Given the description of an element on the screen output the (x, y) to click on. 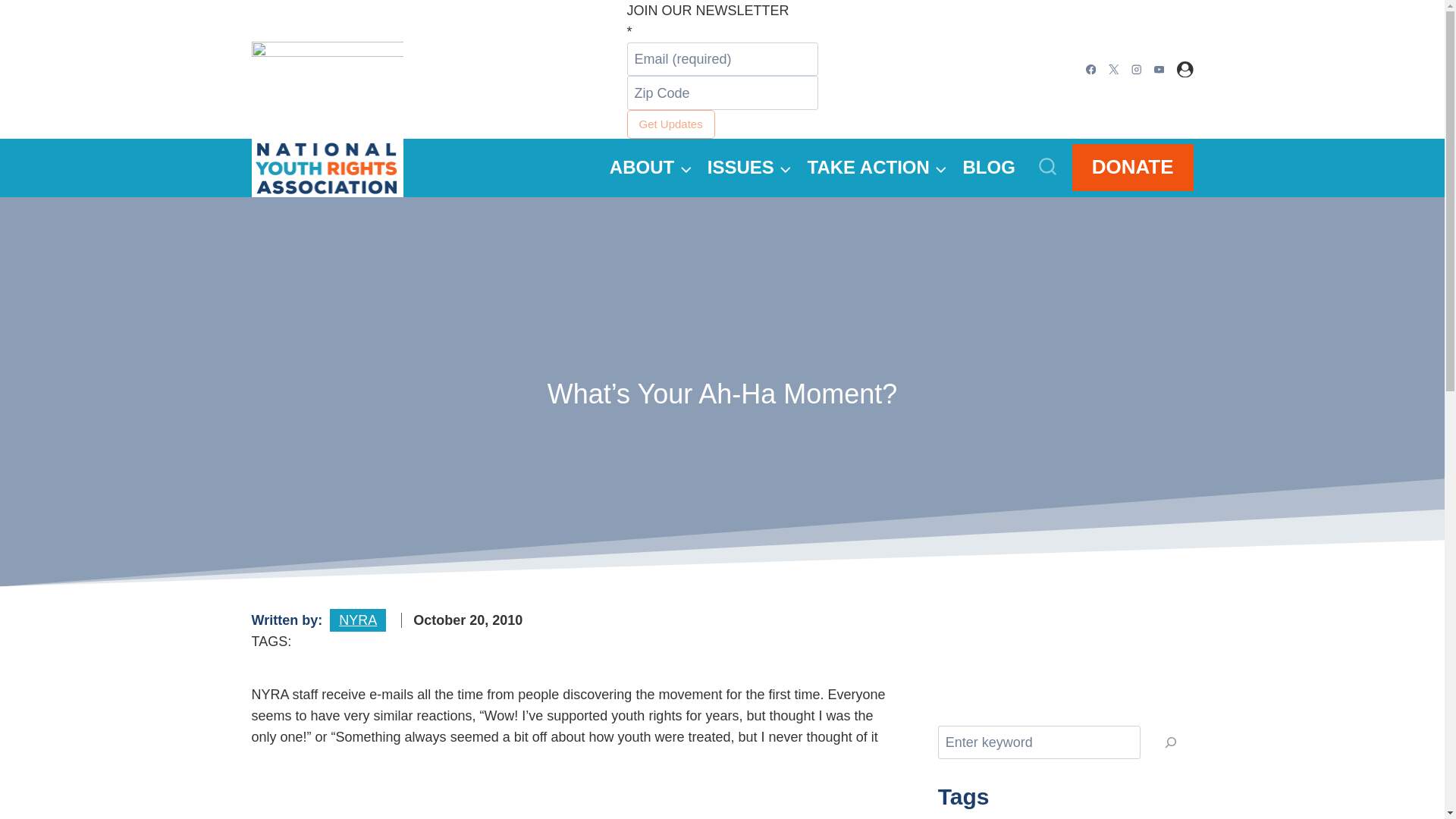
Get Updates (670, 123)
ISSUES (749, 167)
DONATE (1132, 167)
BLOG (989, 167)
NYRA (357, 620)
TAKE ACTION (877, 167)
ABOUT (651, 167)
